Given the description of an element on the screen output the (x, y) to click on. 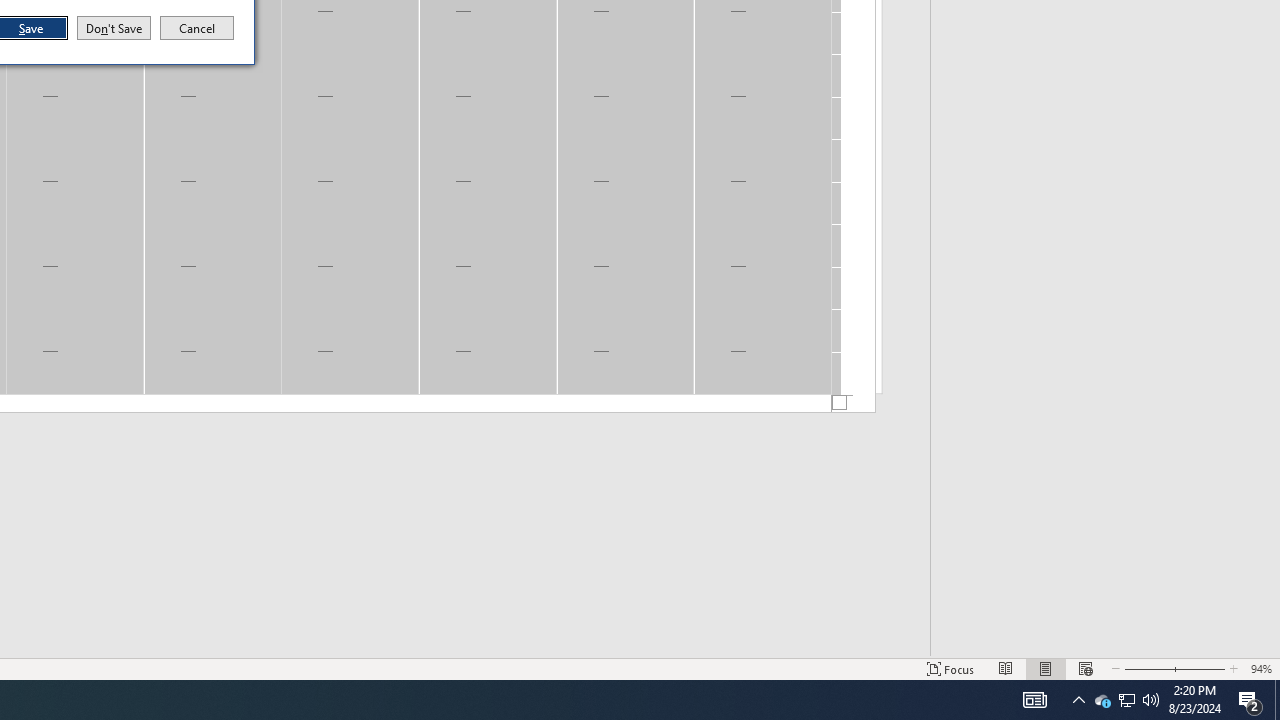
Q2790: 100% (1151, 699)
User Promoted Notification Area (1102, 699)
Don't Save (1126, 699)
Show desktop (113, 27)
Notification Chevron (1277, 699)
AutomationID: 4105 (1078, 699)
